Given the description of an element on the screen output the (x, y) to click on. 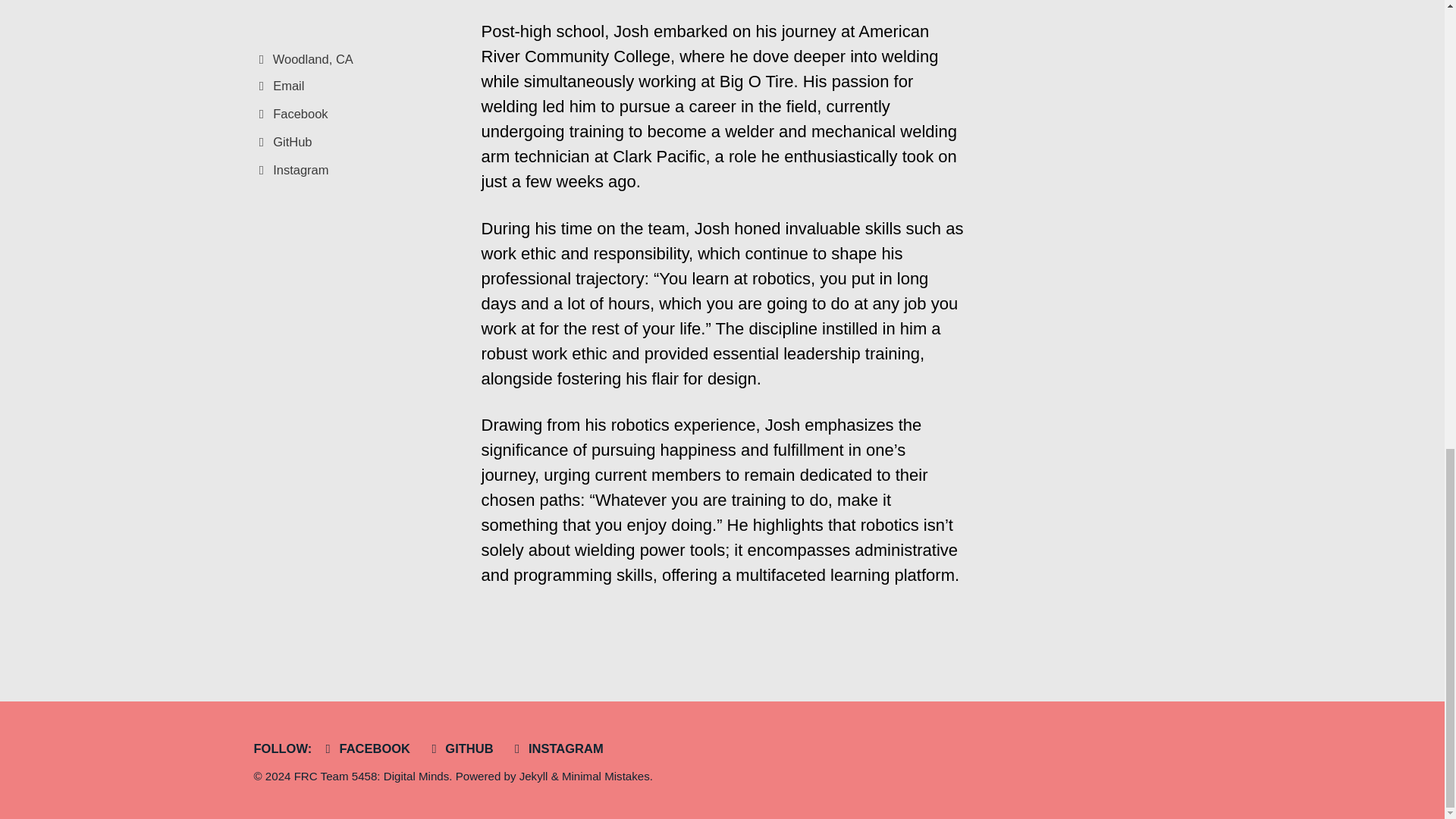
FACEBOOK (368, 748)
GITHUB (463, 748)
Jekyll (533, 775)
INSTAGRAM (560, 748)
Minimal Mistakes (605, 775)
